Given the description of an element on the screen output the (x, y) to click on. 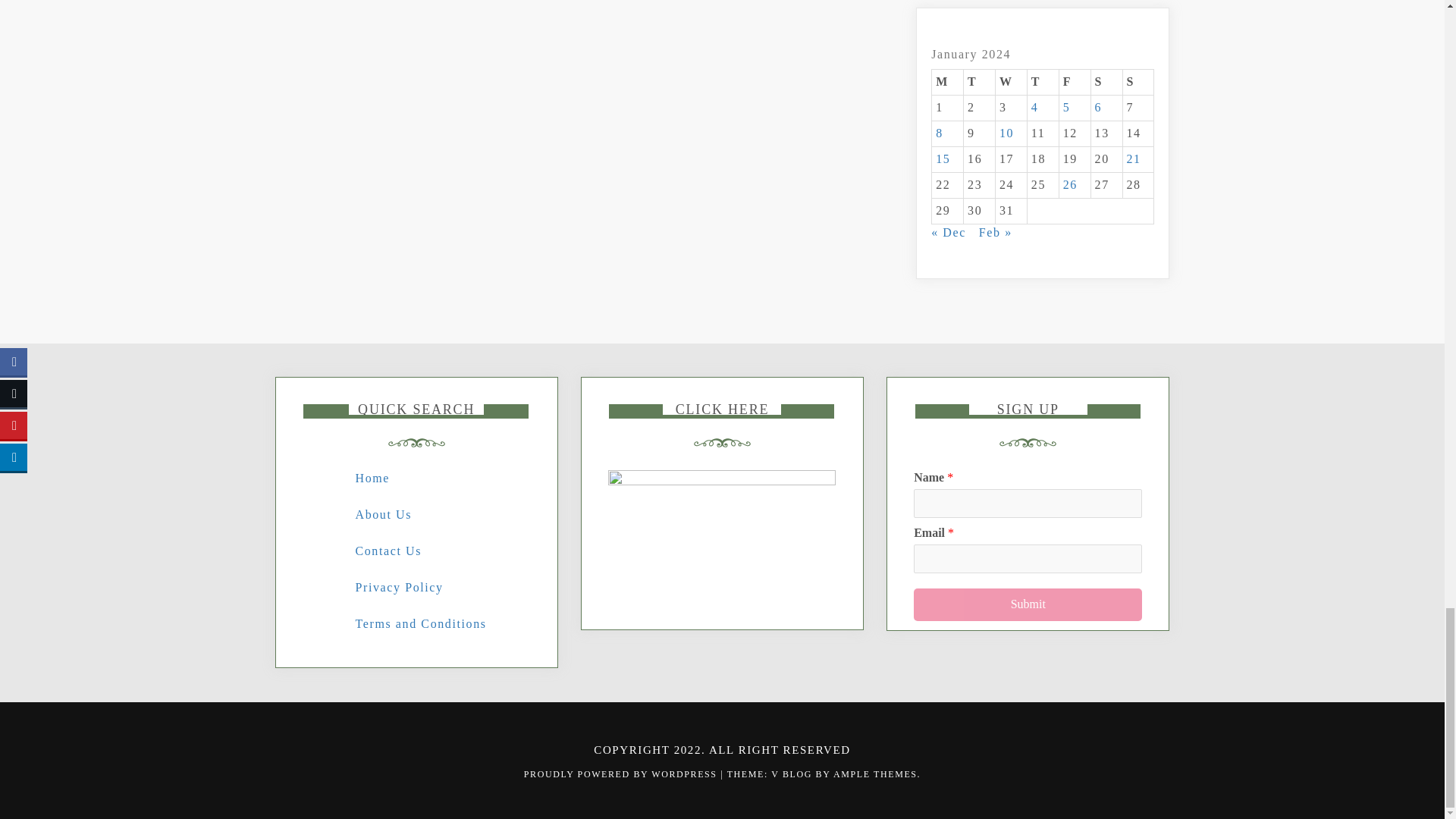
Saturday (1106, 82)
Sunday (1138, 82)
Thursday (1042, 82)
Monday (947, 82)
Tuesday (979, 82)
Friday (1074, 82)
Wednesday (1010, 82)
